Given the description of an element on the screen output the (x, y) to click on. 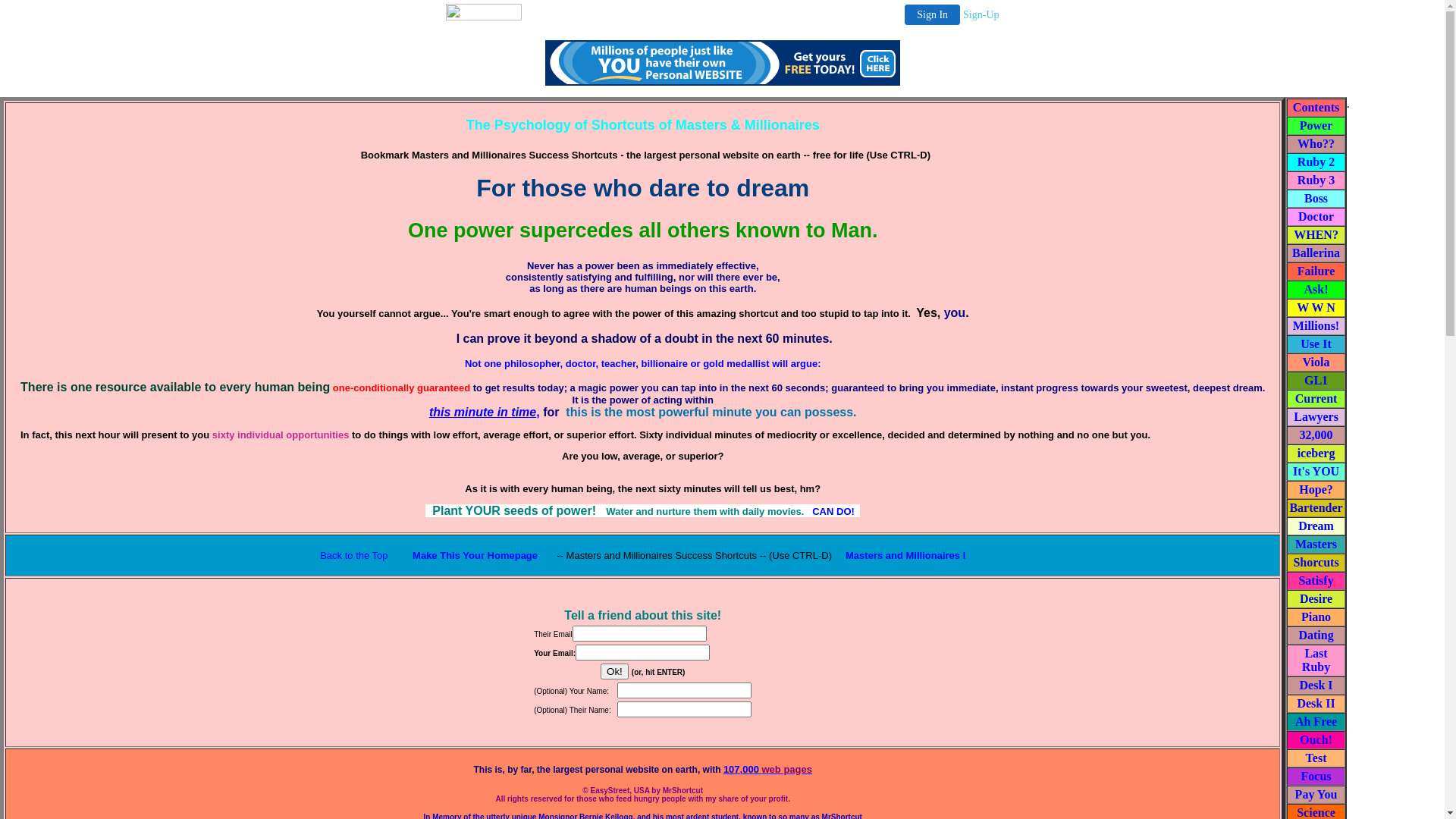
Piano Element type: text (1315, 616)
Contents Element type: text (1315, 106)
Masters Element type: text (1315, 543)
Ruby 3 Element type: text (1315, 179)
WHEN? Element type: text (1315, 234)
Ballerina Element type: text (1315, 252)
Hope? Element type: text (1315, 489)
Power Element type: text (1316, 125)
Desk I Element type: text (1316, 684)
Viola Element type: text (1316, 361)
Dating Element type: text (1315, 634)
Desire Element type: text (1315, 598)
Ruby 2 Element type: text (1315, 161)
Shorcuts Element type: text (1315, 561)
Doctor Element type: text (1315, 216)
Failure Element type: text (1315, 270)
It's YOU Element type: text (1315, 470)
Sign In Element type: text (932, 14)
this minute in time, Element type: text (484, 412)
Sign-Up Element type: text (980, 14)
Focus Element type: text (1316, 775)
Pay You Element type: text (1316, 793)
Dream Element type: text (1315, 525)
Millions! Element type: text (1315, 325)
Lawyers Element type: text (1315, 416)
Use It Element type: text (1315, 343)
Desk II Element type: text (1315, 702)
Bartender Element type: text (1315, 507)
Back to the Top Element type: text (355, 554)
iceberg Element type: text (1316, 452)
Masters and Millionaires I Element type: text (905, 555)
Boss Element type: text (1315, 197)
32,000 Element type: text (1316, 434)
Who?? Element type: text (1315, 143)
Test Element type: text (1316, 757)
GL1 Element type: text (1315, 379)
Ah Free Element type: text (1315, 721)
Last Ruby Element type: text (1316, 659)
W W N Element type: text (1315, 307)
Current Element type: text (1316, 398)
Ok! Element type: text (614, 671)
Ask! Element type: text (1316, 288)
Make This Your Homepage Element type: text (474, 555)
Ouch! Element type: text (1315, 739)
107,000 web pages Element type: text (767, 769)
Satisfy Element type: text (1315, 580)
